Given the description of an element on the screen output the (x, y) to click on. 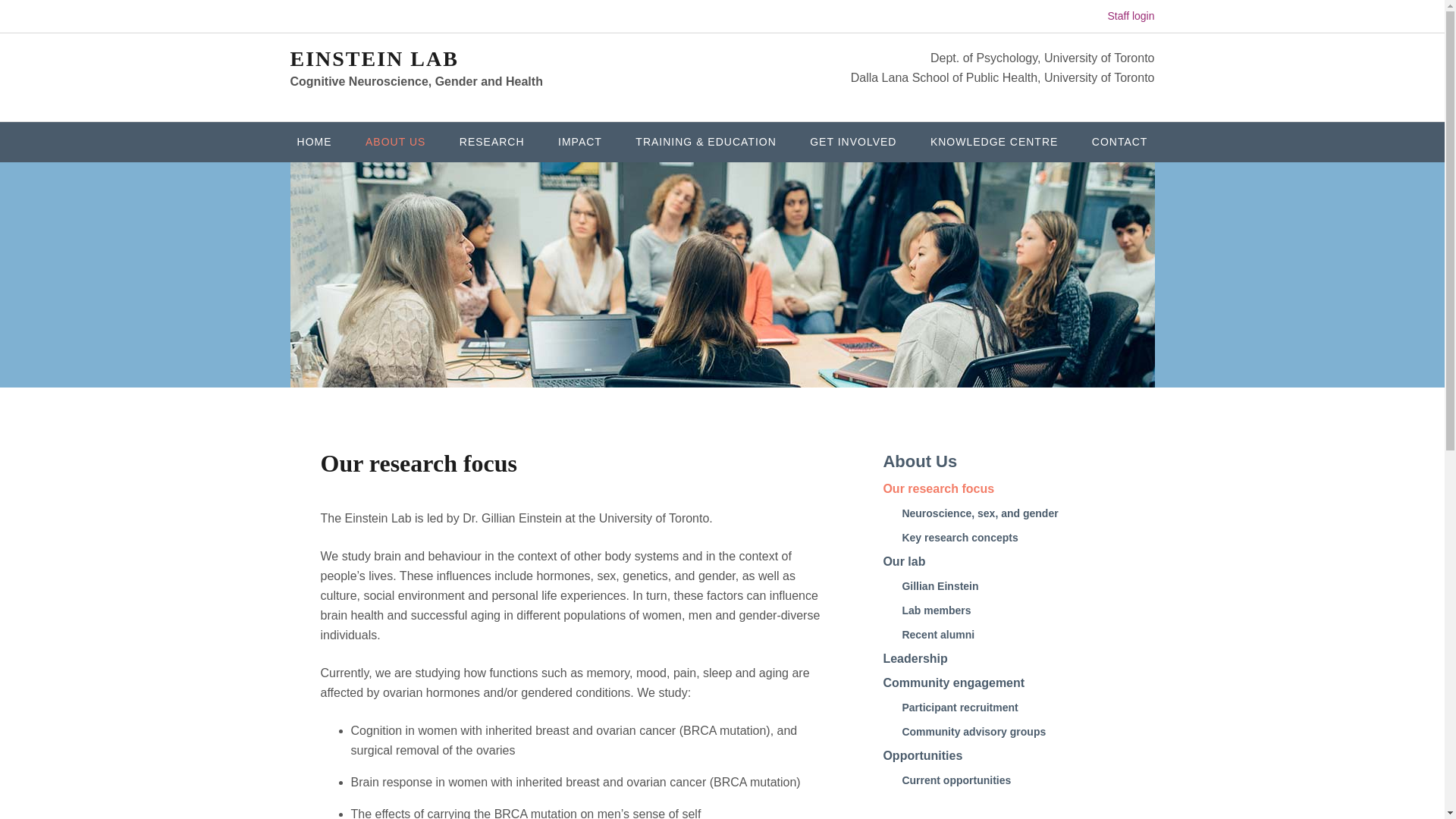
Skip to primary sidebar (74, 17)
Staff login (1130, 15)
HOME (314, 142)
ABOUT US (395, 142)
RESEARCH (492, 142)
EINSTEIN LAB (373, 58)
IMPACT (580, 142)
Skip to footer navigation (78, 17)
Skip to primary navigation (83, 17)
Skip to main content (66, 17)
